Given the description of an element on the screen output the (x, y) to click on. 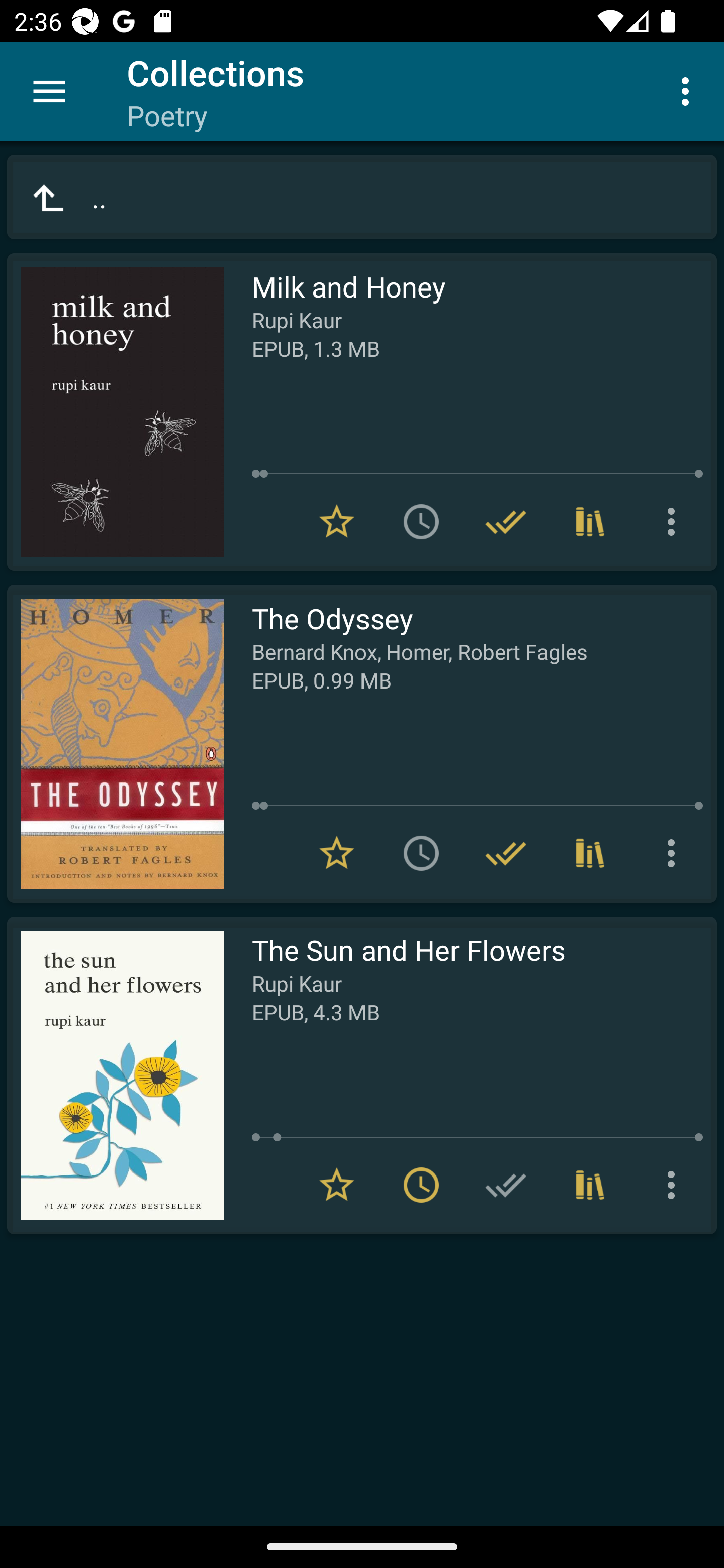
Menu (49, 91)
More options (688, 90)
.. (361, 197)
Read Milk and Honey (115, 412)
Remove from Favorites (336, 521)
Add to To read (421, 521)
Remove from Have read (505, 521)
Collections (4) (590, 521)
More options (674, 521)
Read The Odyssey (115, 743)
Remove from Favorites (336, 852)
Add to To read (421, 852)
Remove from Have read (505, 852)
Collections (3) (590, 852)
More options (674, 852)
Read The Sun and Her Flowers (115, 1075)
Remove from Favorites (336, 1185)
Remove from To read (421, 1185)
Add to Have read (505, 1185)
Collections (1) (590, 1185)
More options (674, 1185)
